Given the description of an element on the screen output the (x, y) to click on. 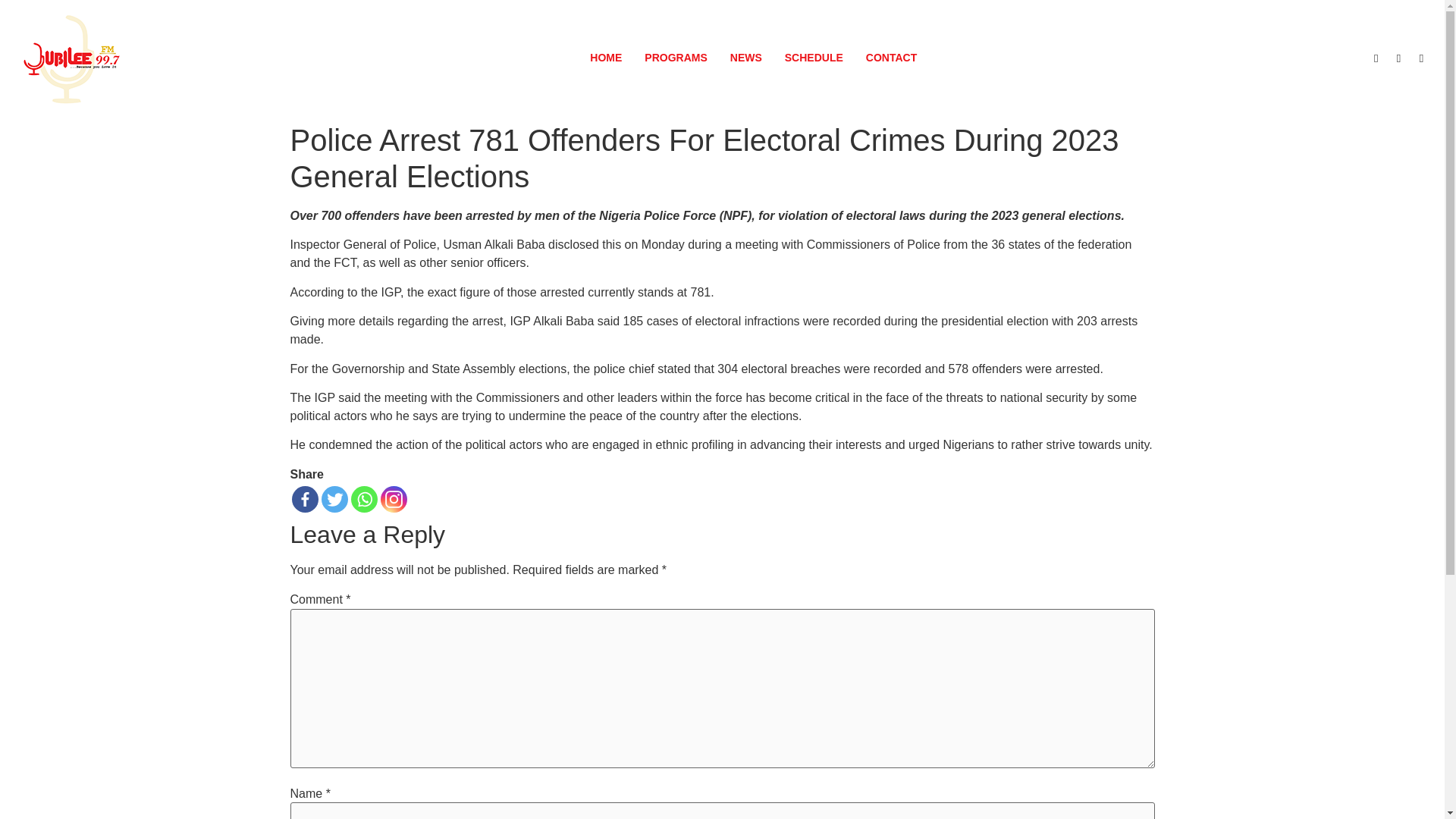
NEWS (746, 57)
Twitter (334, 499)
Whatsapp (363, 499)
HOME (605, 57)
SCHEDULE (813, 57)
CONTACT (891, 57)
Instagram (393, 499)
PROGRAMS (675, 57)
Facebook (304, 499)
